Given the description of an element on the screen output the (x, y) to click on. 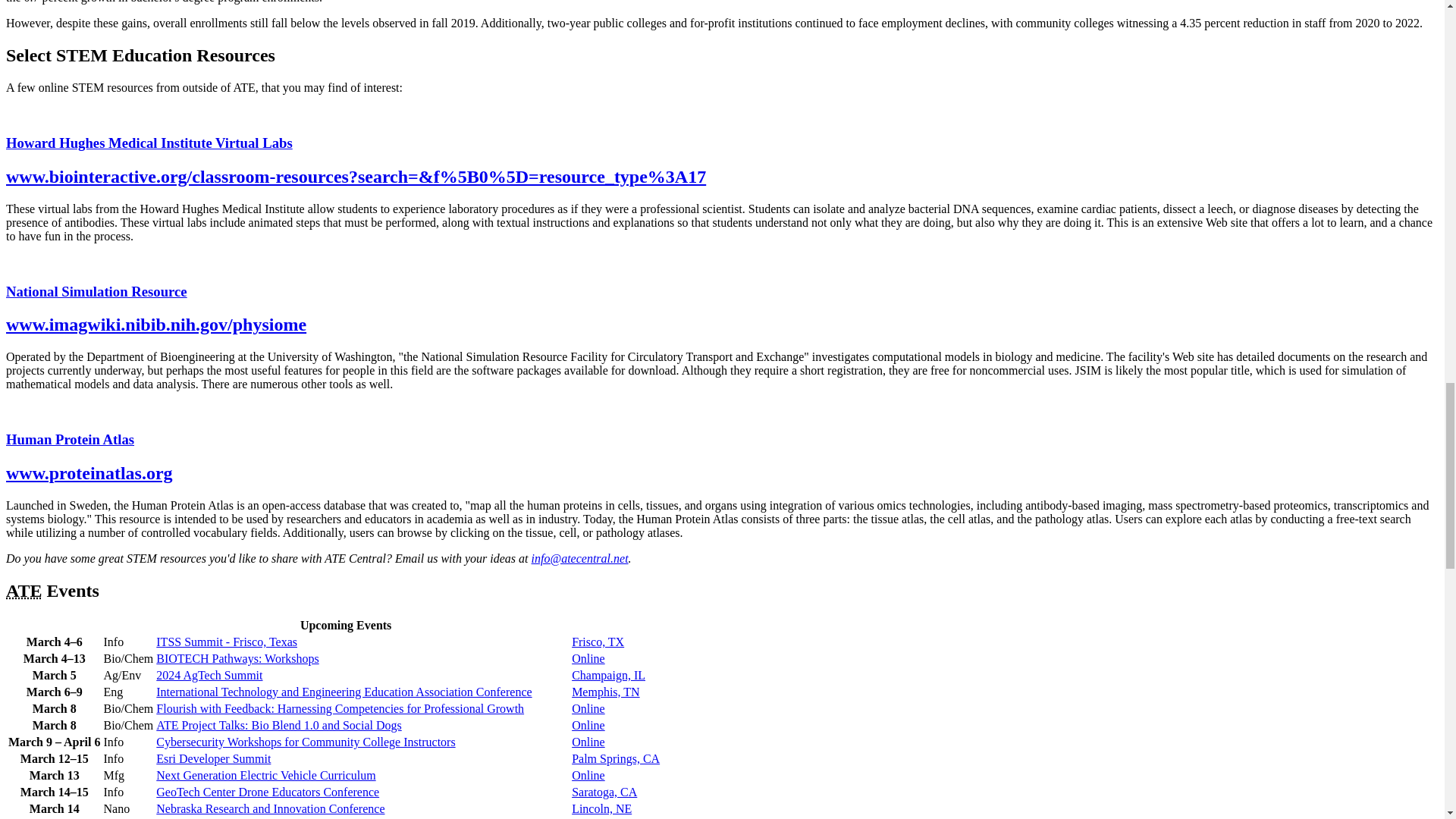
Agricultural and Environmental Technologies (128, 675)
Advanced Technological Education (23, 590)
Bio and Chemical Technologies (128, 658)
Information and Security Technologies (128, 642)
